Given the description of an element on the screen output the (x, y) to click on. 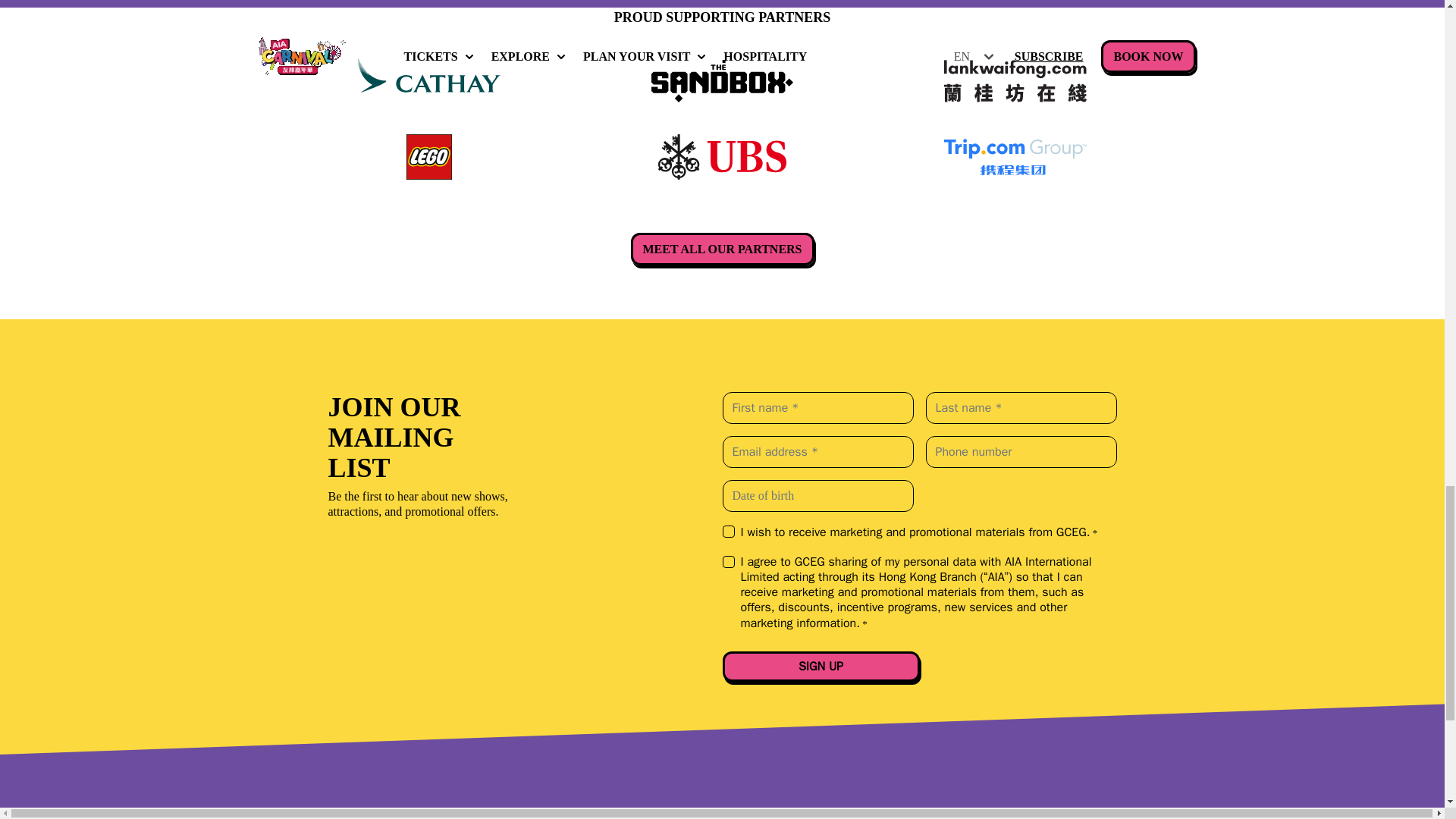
SIGN UP (820, 666)
on (727, 562)
on (727, 531)
SIGN UP (820, 666)
Date of birth (817, 495)
MEET ALL OUR PARTNERS (721, 248)
